Given the description of an element on the screen output the (x, y) to click on. 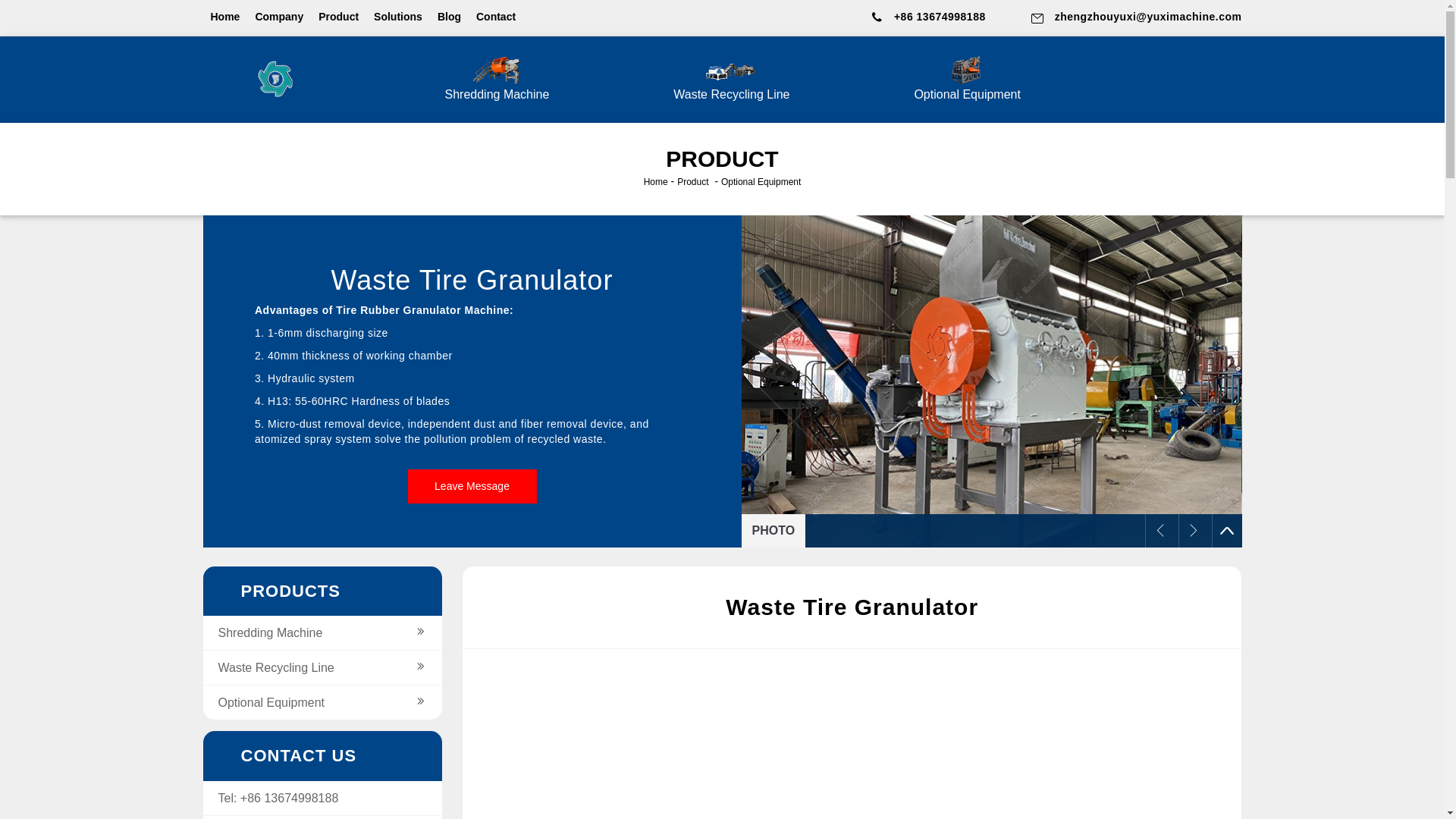
Optional Equipment (271, 702)
Waste Recycling Line (276, 667)
Product (338, 16)
Optional Equipment (967, 79)
Blog (449, 16)
Blog (449, 16)
Shredding Machine (496, 79)
 Product (338, 16)
Contact (495, 16)
Shredding Machine (270, 632)
Company (278, 16)
Solutions (398, 16)
Company (278, 16)
Home (225, 16)
Contact (495, 16)
